Given the description of an element on the screen output the (x, y) to click on. 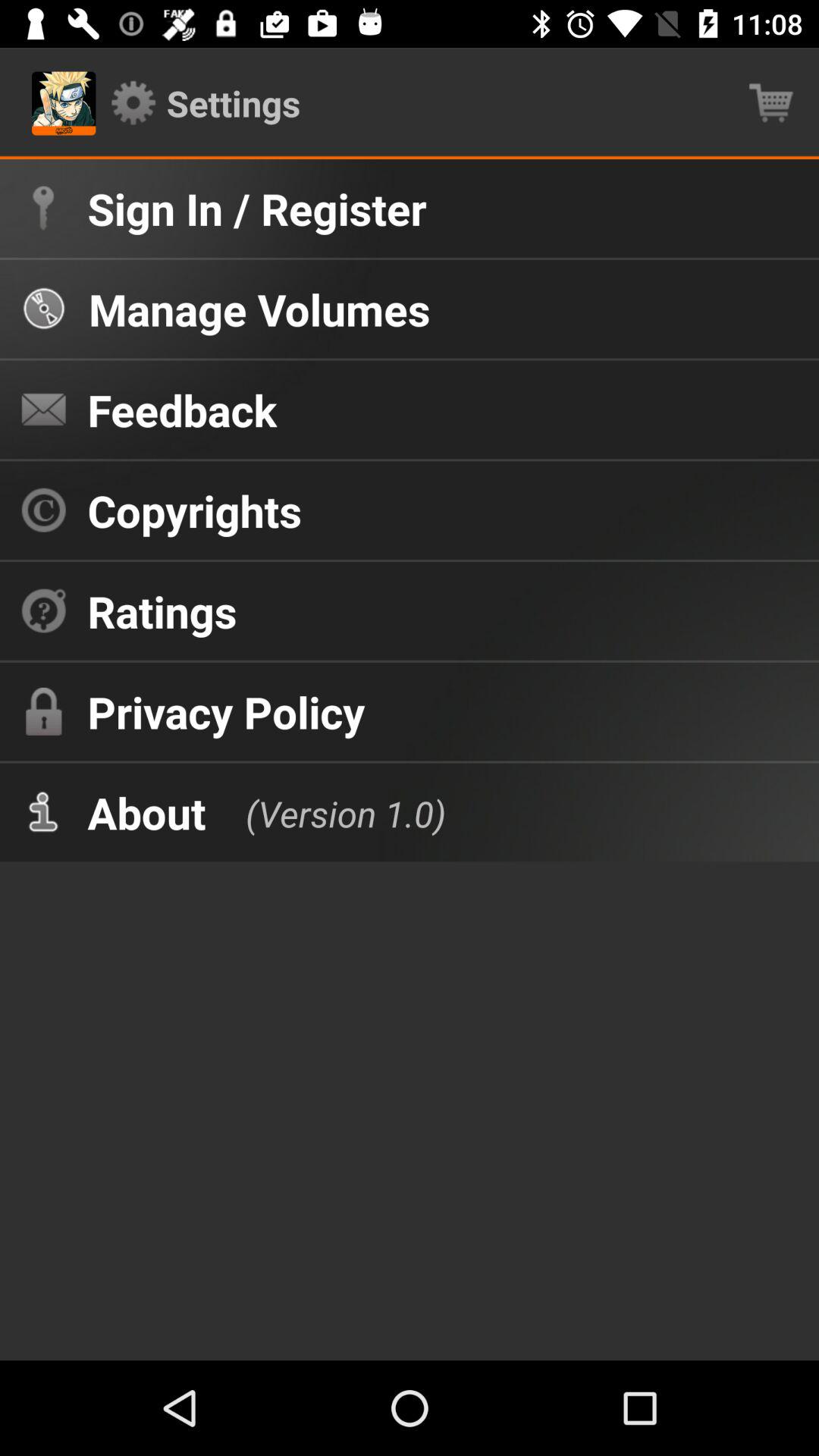
press privacy policy (226, 711)
